Given the description of an element on the screen output the (x, y) to click on. 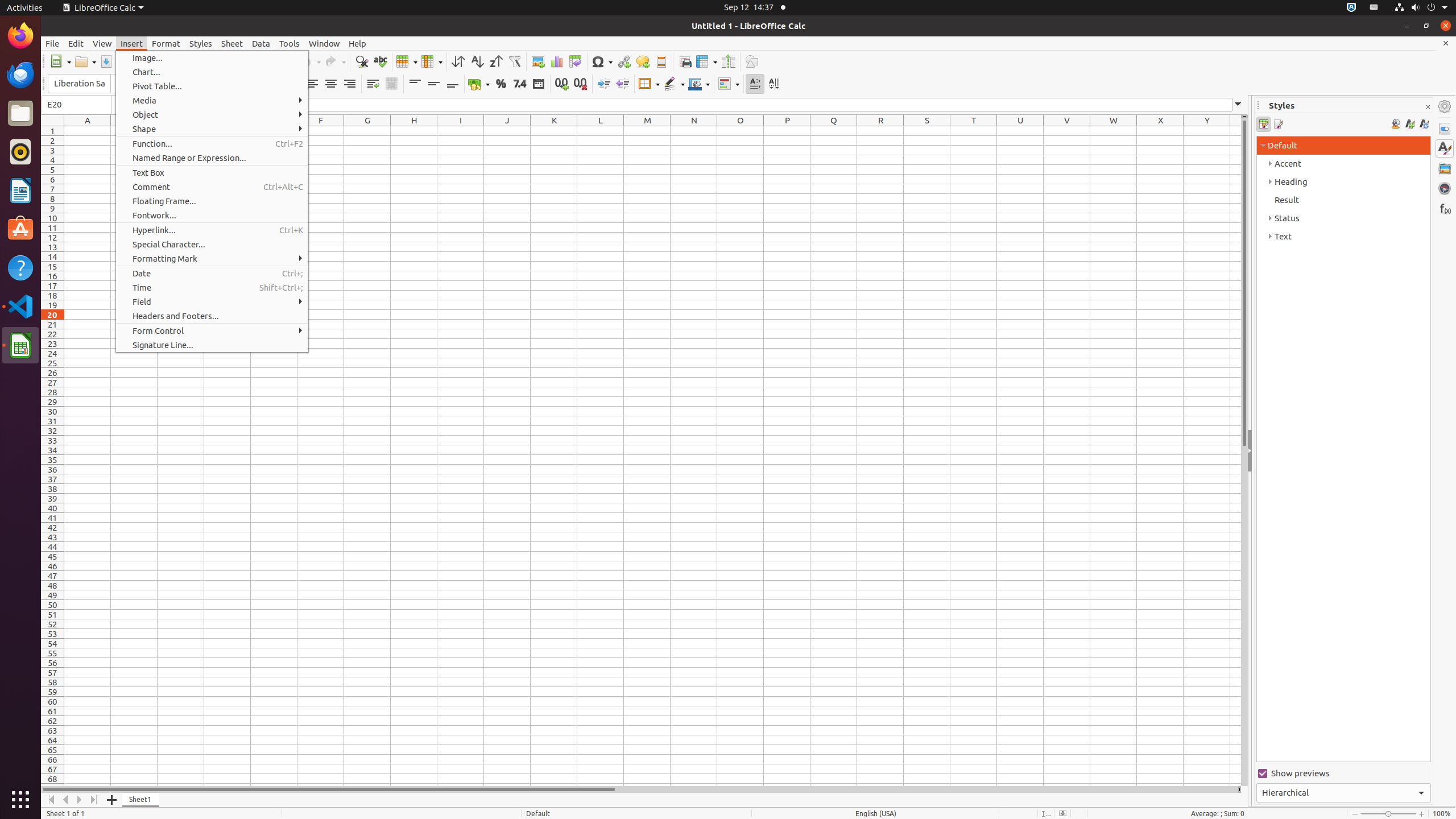
Cell Styles Element type: push-button (1263, 123)
Thunderbird Mail Element type: push-button (20, 74)
